Given the description of an element on the screen output the (x, y) to click on. 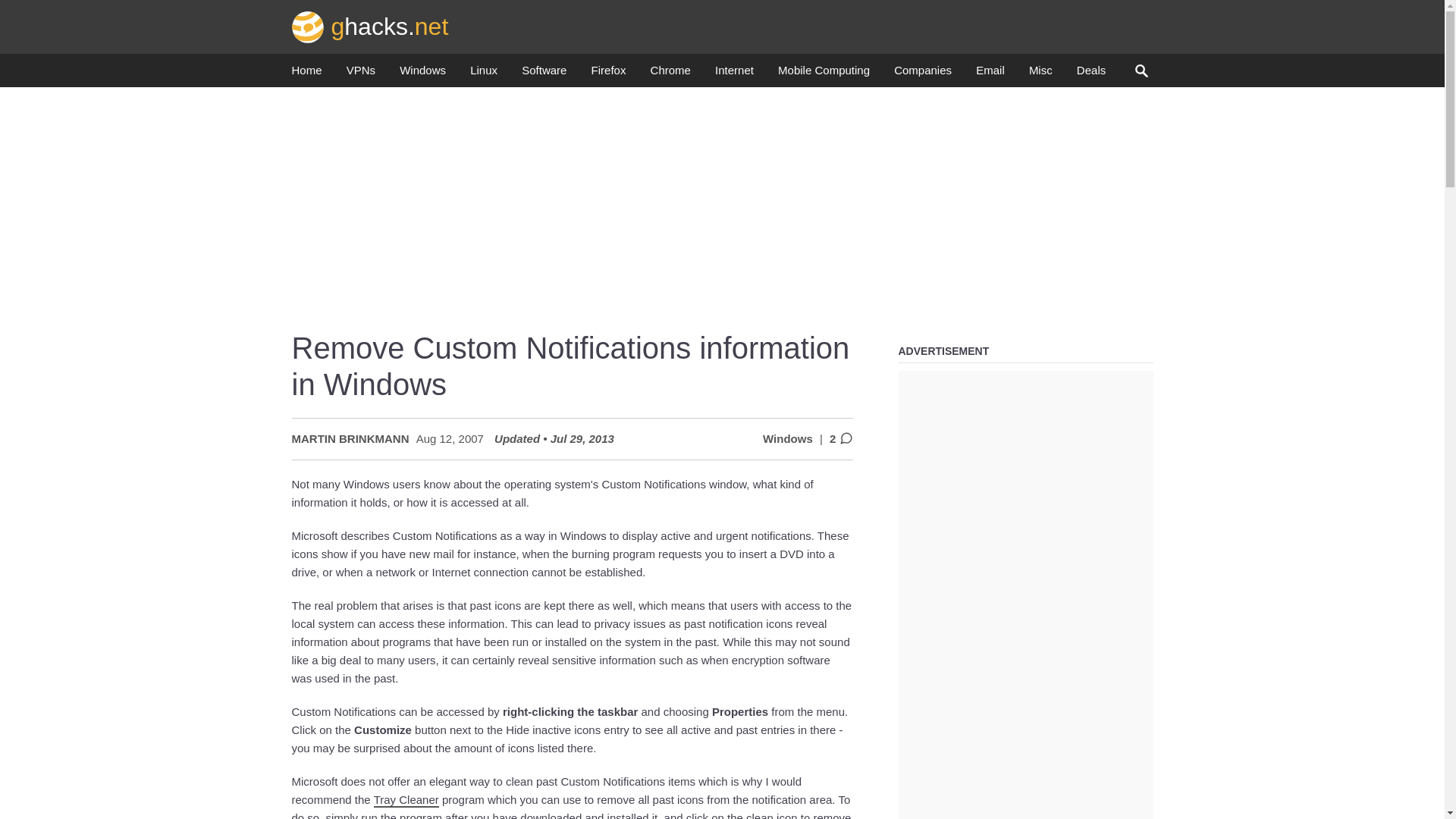
Firefox (608, 73)
Software (543, 73)
Chrome (670, 73)
Deals (1091, 73)
Email (989, 73)
ghacks.net (369, 26)
Linux (483, 73)
Companies (922, 73)
VPNs (360, 73)
Misc (1040, 73)
